Given the description of an element on the screen output the (x, y) to click on. 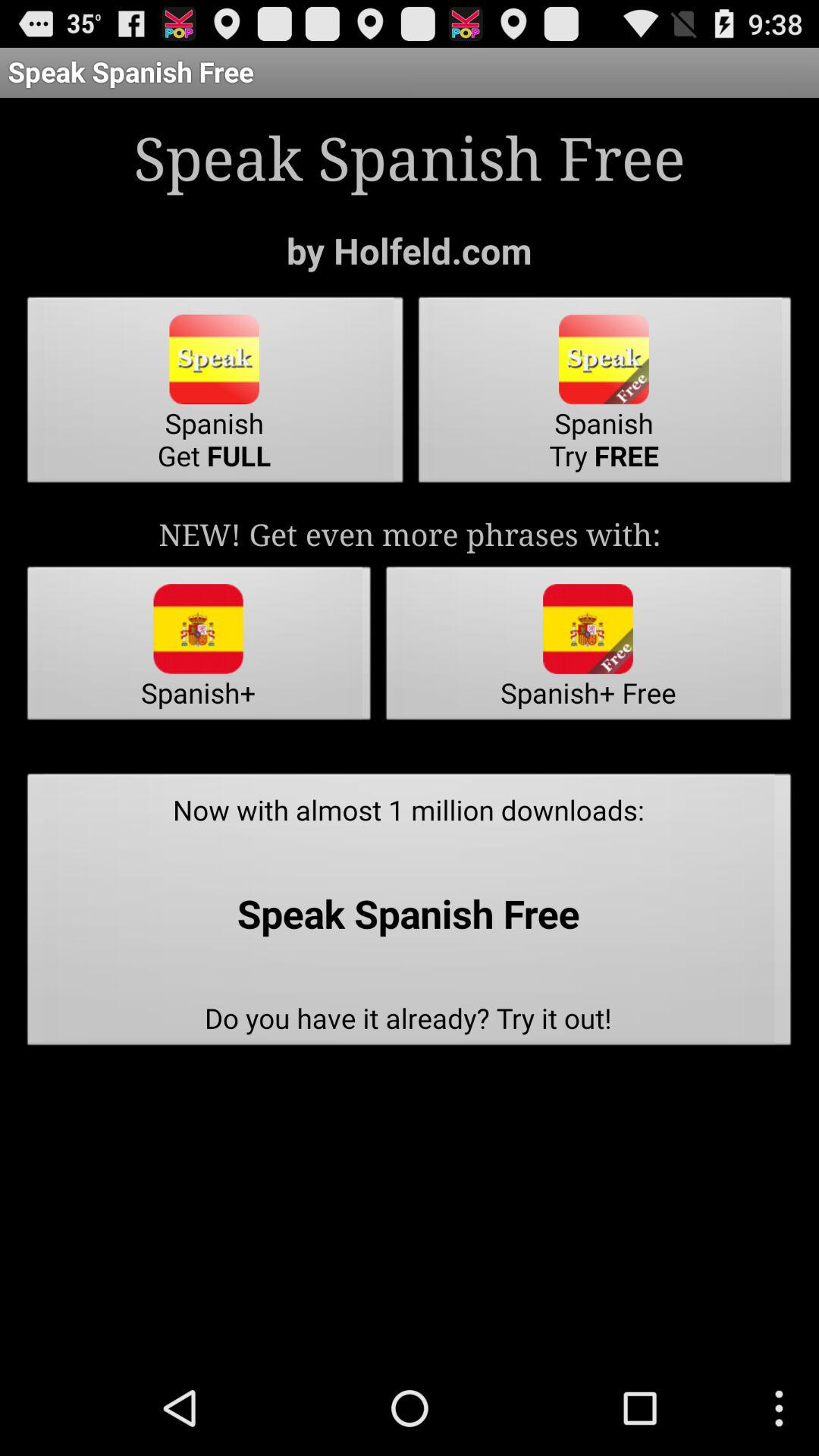
turn on the spanish
get full button (215, 394)
